Given the description of an element on the screen output the (x, y) to click on. 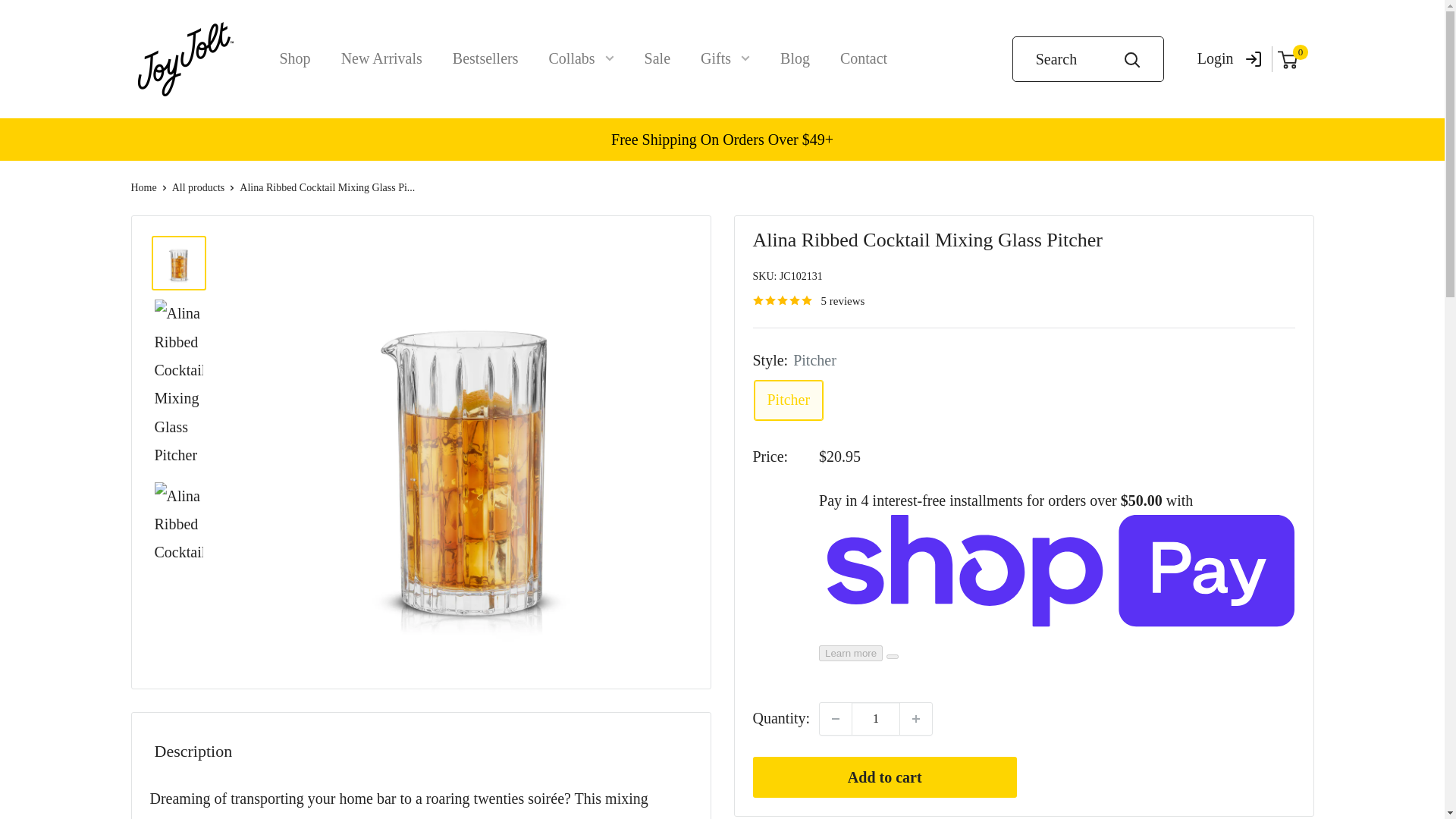
Increase quantity by 1 (915, 718)
Pitcher (788, 400)
Decrease quantity by 1 (835, 718)
1 (875, 718)
